Given the description of an element on the screen output the (x, y) to click on. 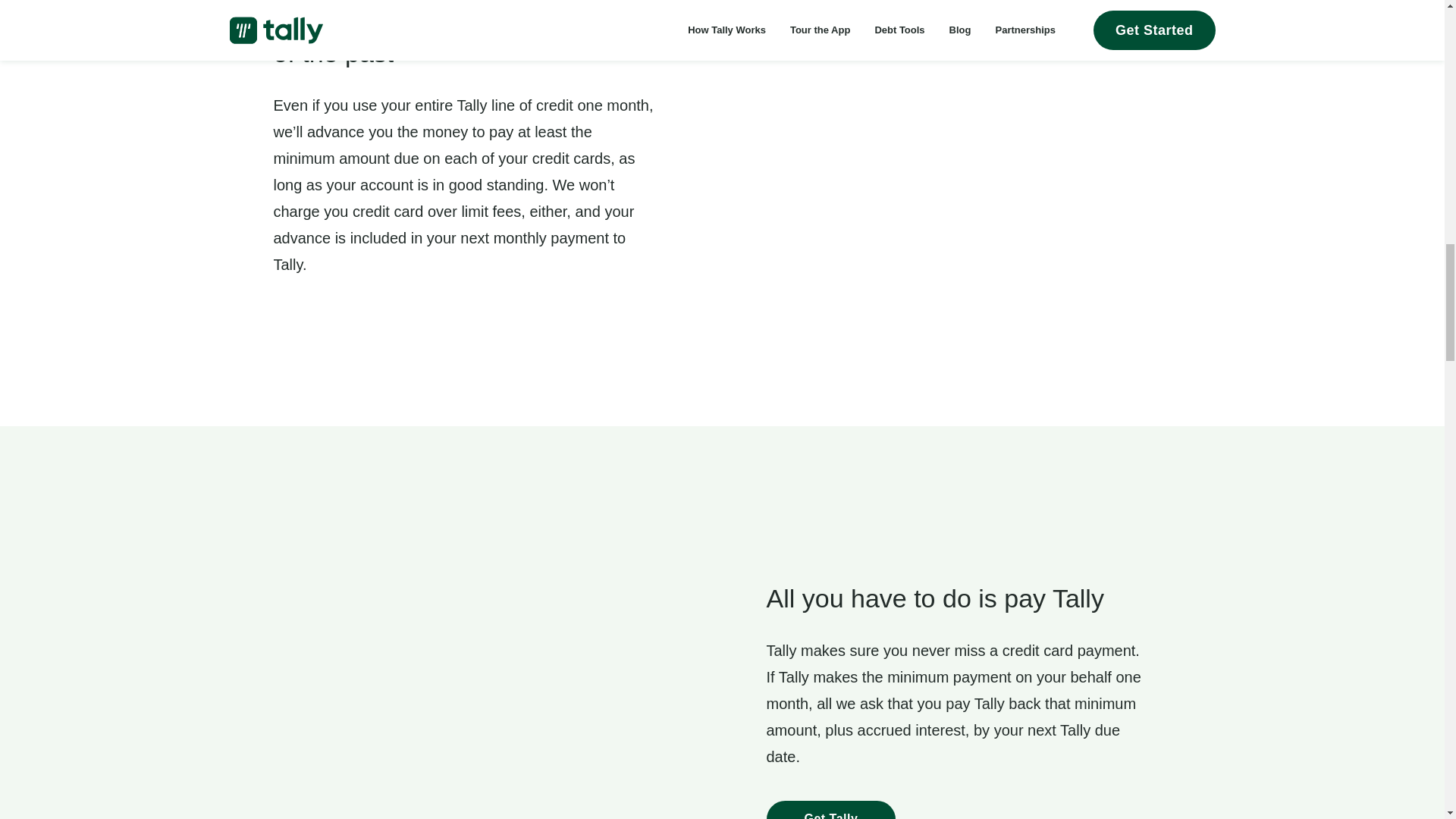
Get Tally (830, 809)
